Given the description of an element on the screen output the (x, y) to click on. 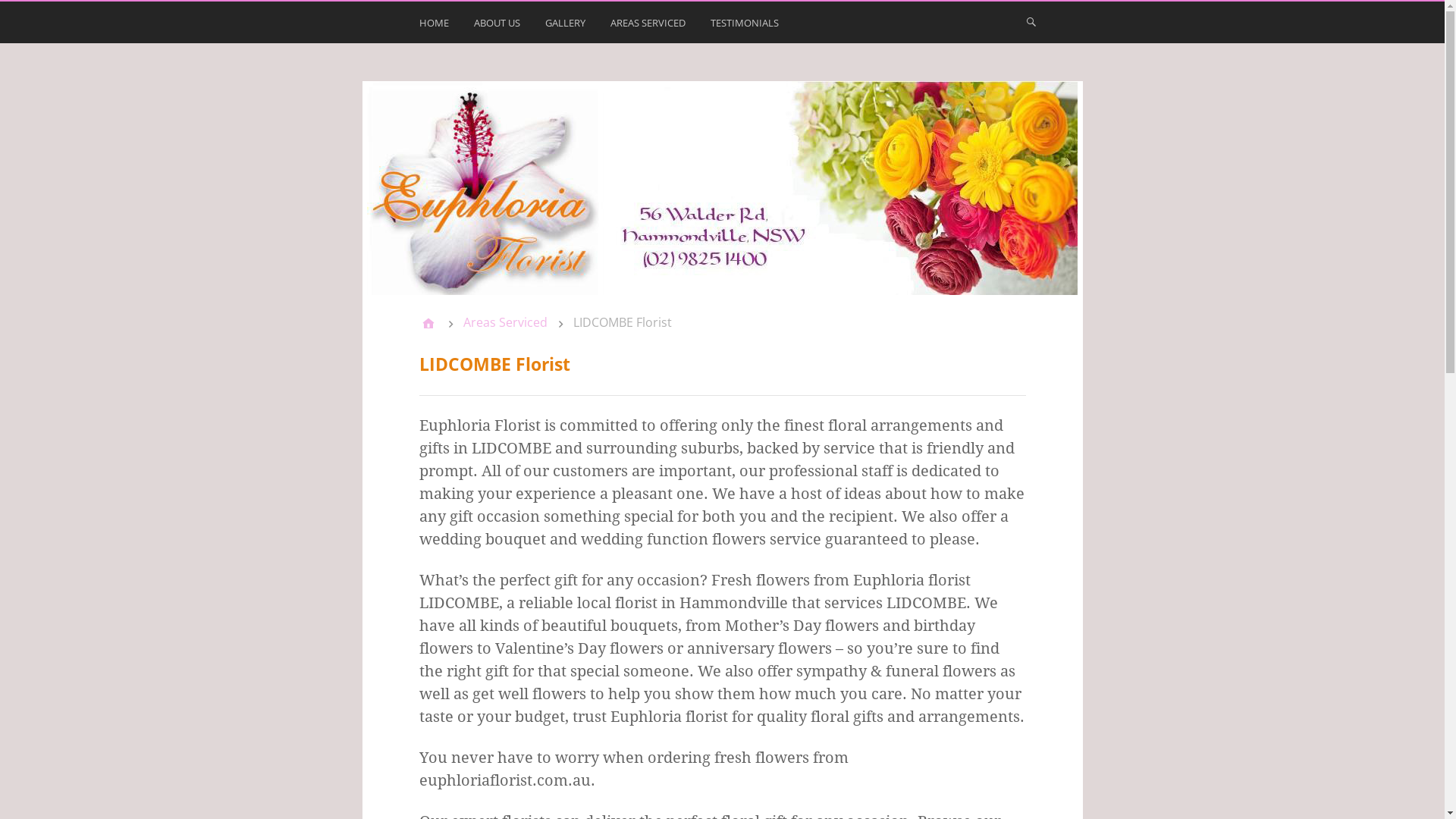
ABOUT US Element type: text (498, 26)
TESTIMONIALS Element type: text (745, 26)
Search Element type: text (29, 16)
Euphloria Florist Element type: hover (427, 322)
GALLERY Element type: text (566, 26)
Euphloria Florist Element type: hover (722, 187)
HOME Element type: text (434, 26)
Areas Serviced Element type: text (504, 322)
AREAS SERVICED Element type: text (648, 26)
